Given the description of an element on the screen output the (x, y) to click on. 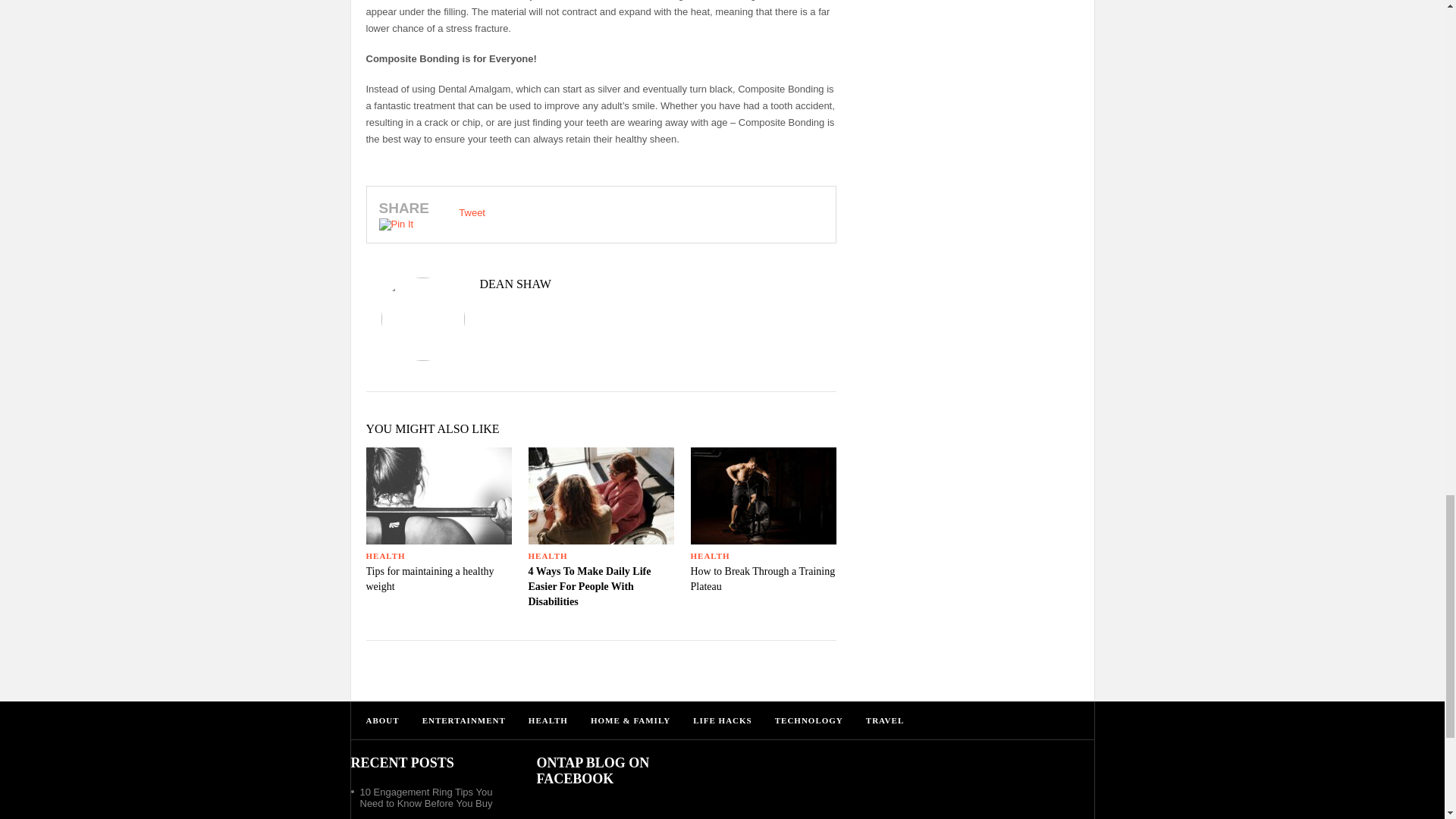
Tips for maintaining a healthy weight (429, 578)
DEAN SHAW (600, 284)
ABOUT (381, 719)
How to Break Through a Training Plateau (762, 578)
Posts by Dean Shaw (600, 284)
HEALTH (547, 555)
HEALTH (384, 555)
Pin It (395, 224)
Permanent Link: How to Break Through a Training Plateau (762, 578)
ENTERTAINMENT (463, 719)
Tweet (471, 212)
HEALTH (709, 555)
Permanent Link: Tips for maintaining a healthy weight (429, 578)
